Given the description of an element on the screen output the (x, y) to click on. 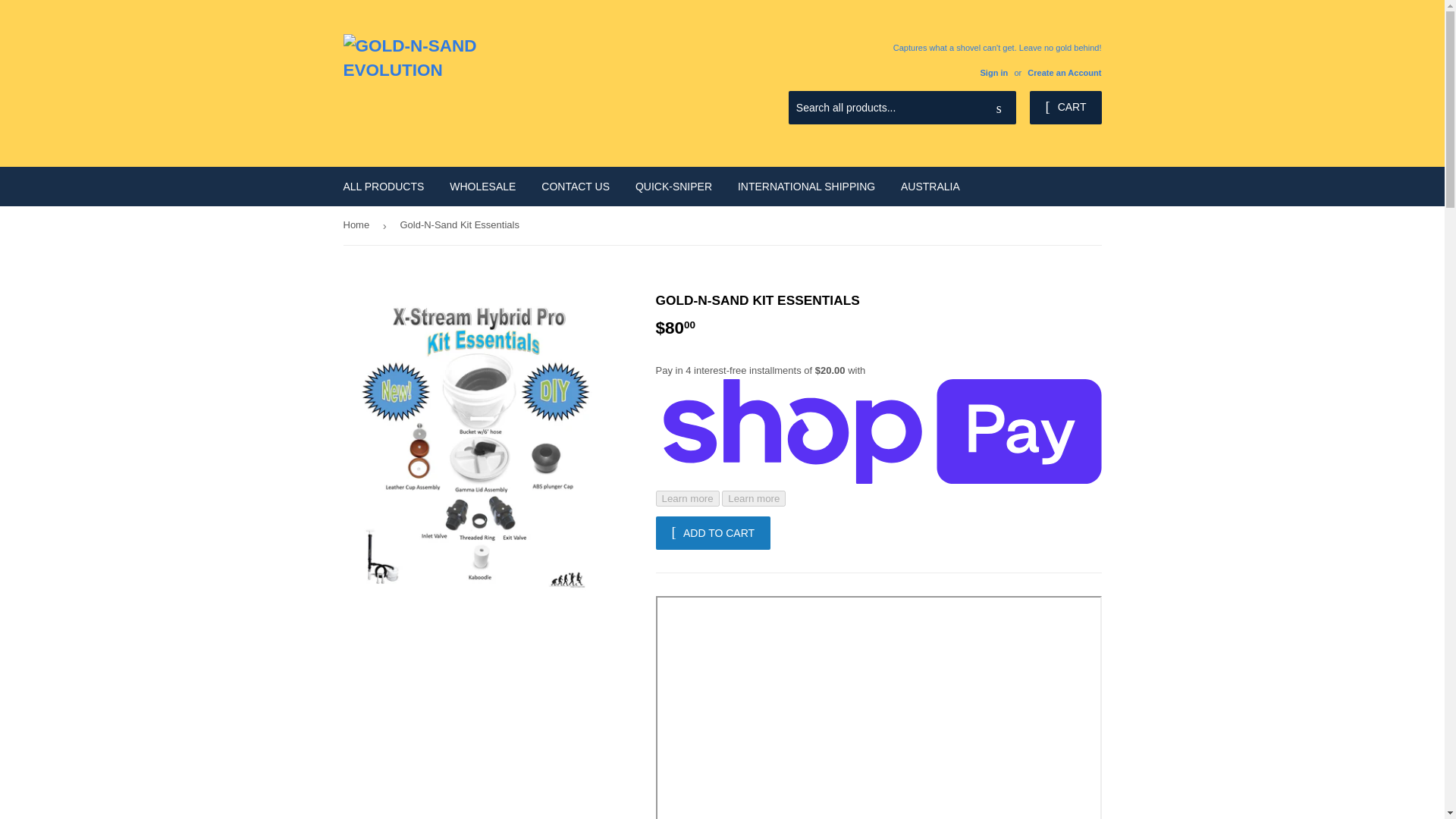
Create an Account (1063, 71)
INTERNATIONAL SHIPPING (806, 186)
QUICK-SNIPER (673, 186)
Sign in (993, 71)
AUSTRALIA (930, 186)
CONTACT US (575, 186)
ALL PRODUCTS (383, 186)
ADD TO CART (712, 532)
Search (998, 108)
WHOLESALE (482, 186)
CART (1064, 107)
